Given the description of an element on the screen output the (x, y) to click on. 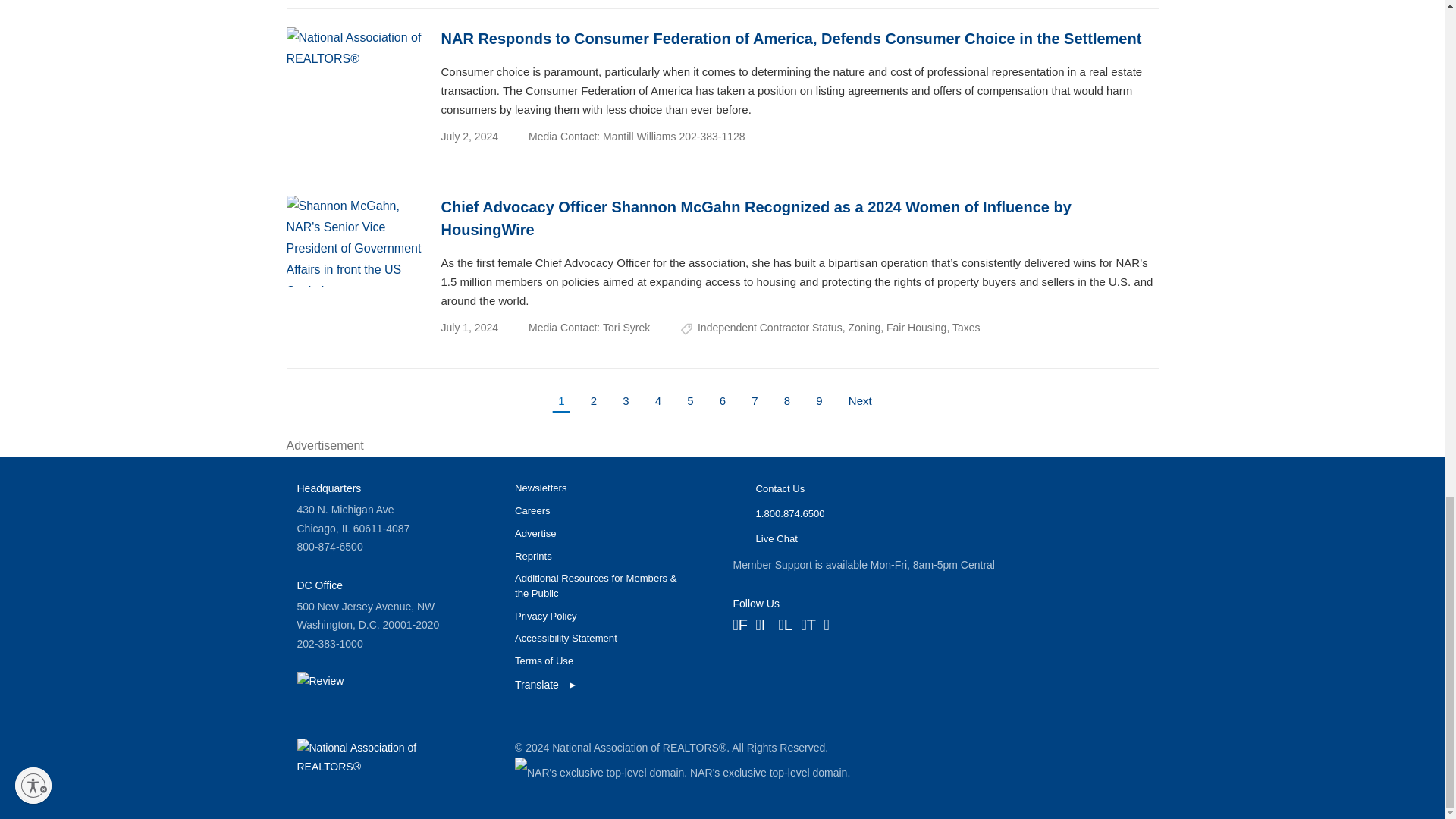
NAR's exclusive top-level domain. (601, 772)
Green Business Benchmark (320, 680)
